Given the description of an element on the screen output the (x, y) to click on. 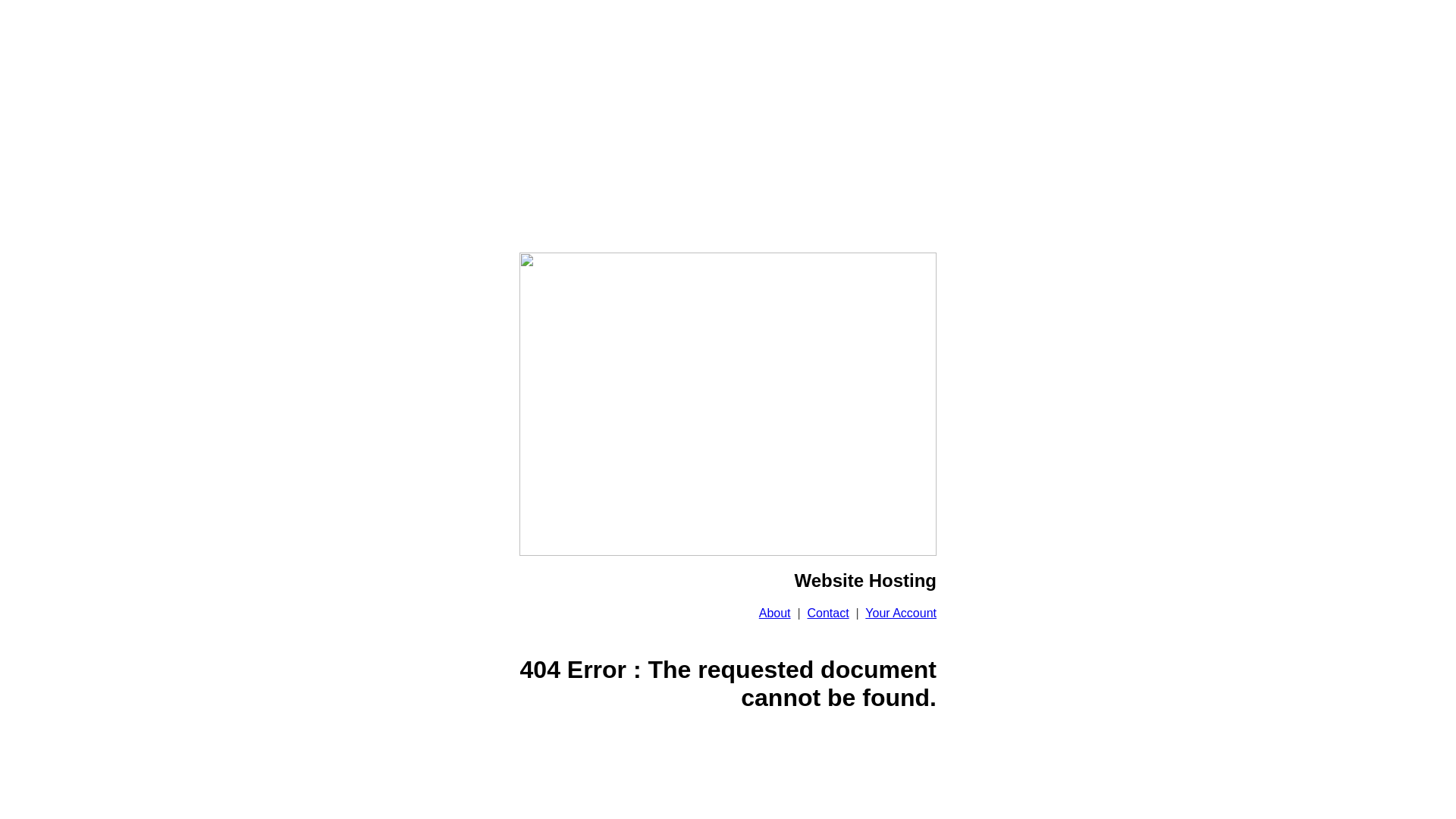
About Element type: text (774, 612)
Contact Element type: text (827, 612)
Your Account Element type: text (900, 612)
